Given the description of an element on the screen output the (x, y) to click on. 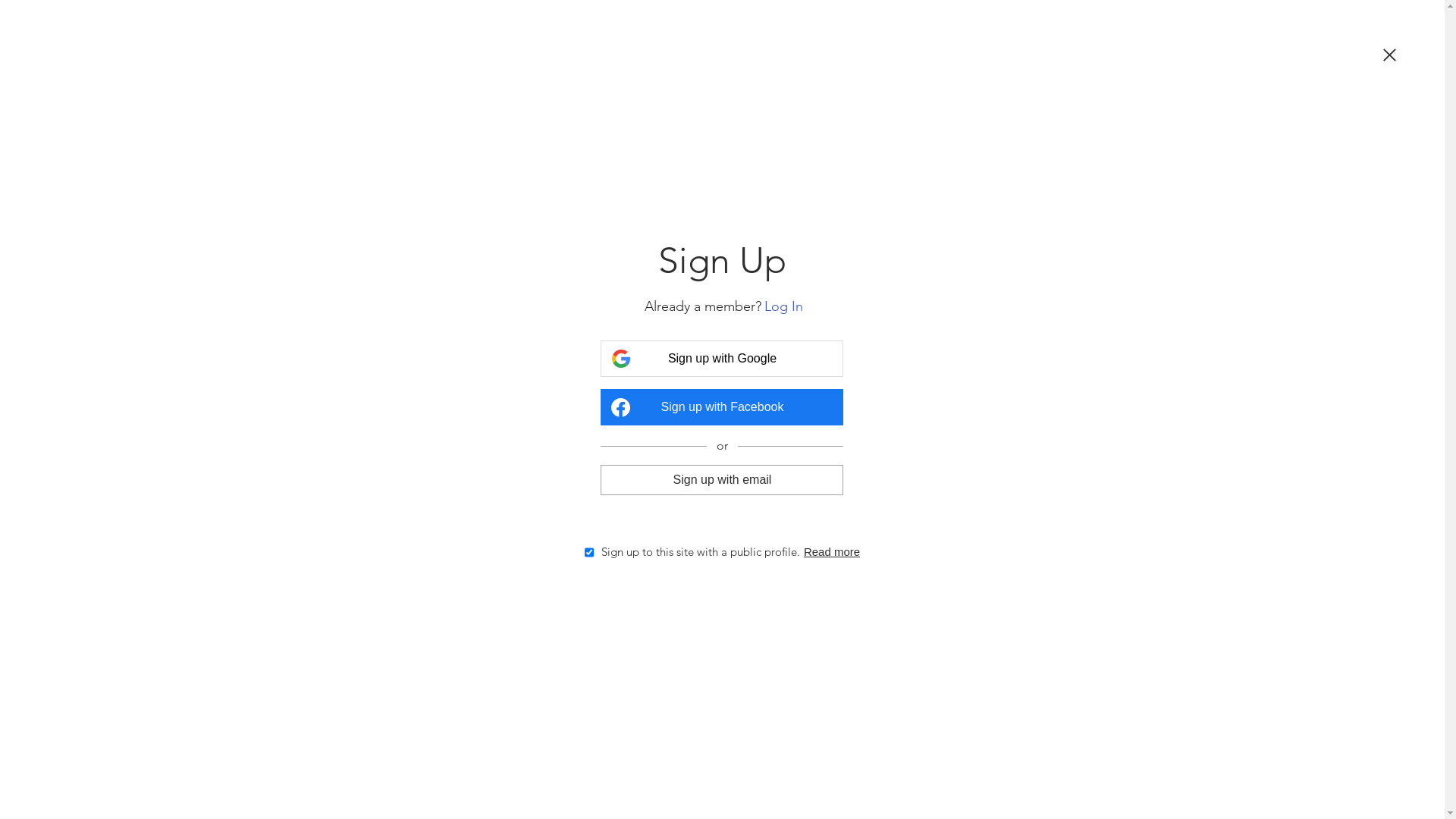
Sign up with Facebook Element type: text (721, 407)
Read more Element type: text (831, 551)
Sign up with Google Element type: text (721, 358)
Sign up with email Element type: text (721, 479)
Log In Element type: text (783, 306)
